Given the description of an element on the screen output the (x, y) to click on. 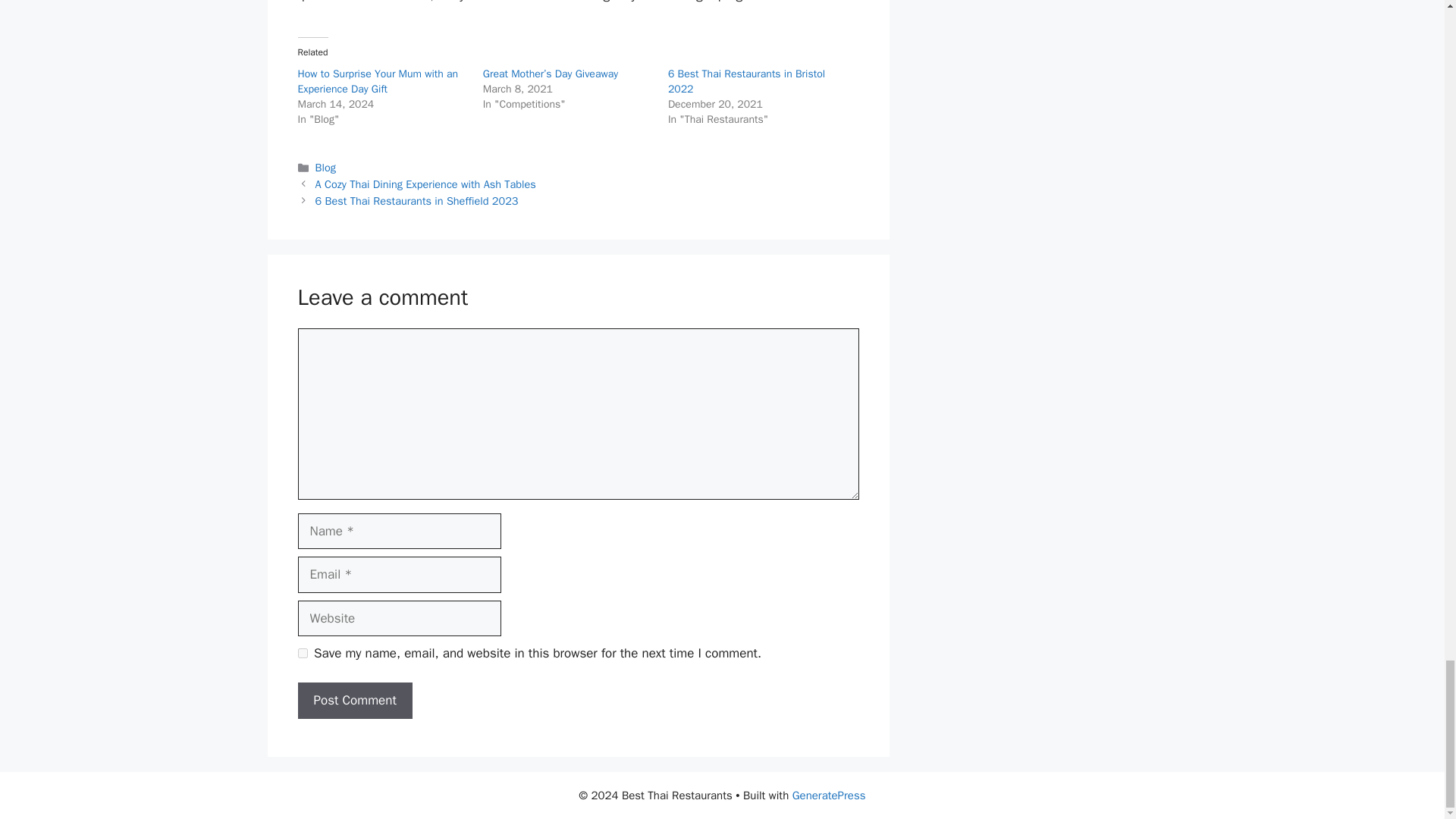
GeneratePress (829, 795)
A Cozy Thai Dining Experience with Ash Tables (425, 183)
6 Best Thai Restaurants in Bristol 2022 (746, 81)
Post Comment (354, 700)
How to Surprise Your Mum with an Experience Day Gift (377, 81)
6 Best Thai Restaurants in Sheffield 2023 (416, 201)
Blog (325, 167)
yes (302, 653)
6 Best Thai Restaurants in Bristol 2022 (746, 81)
How to Surprise Your Mum with an Experience Day Gift (377, 81)
